Given the description of an element on the screen output the (x, y) to click on. 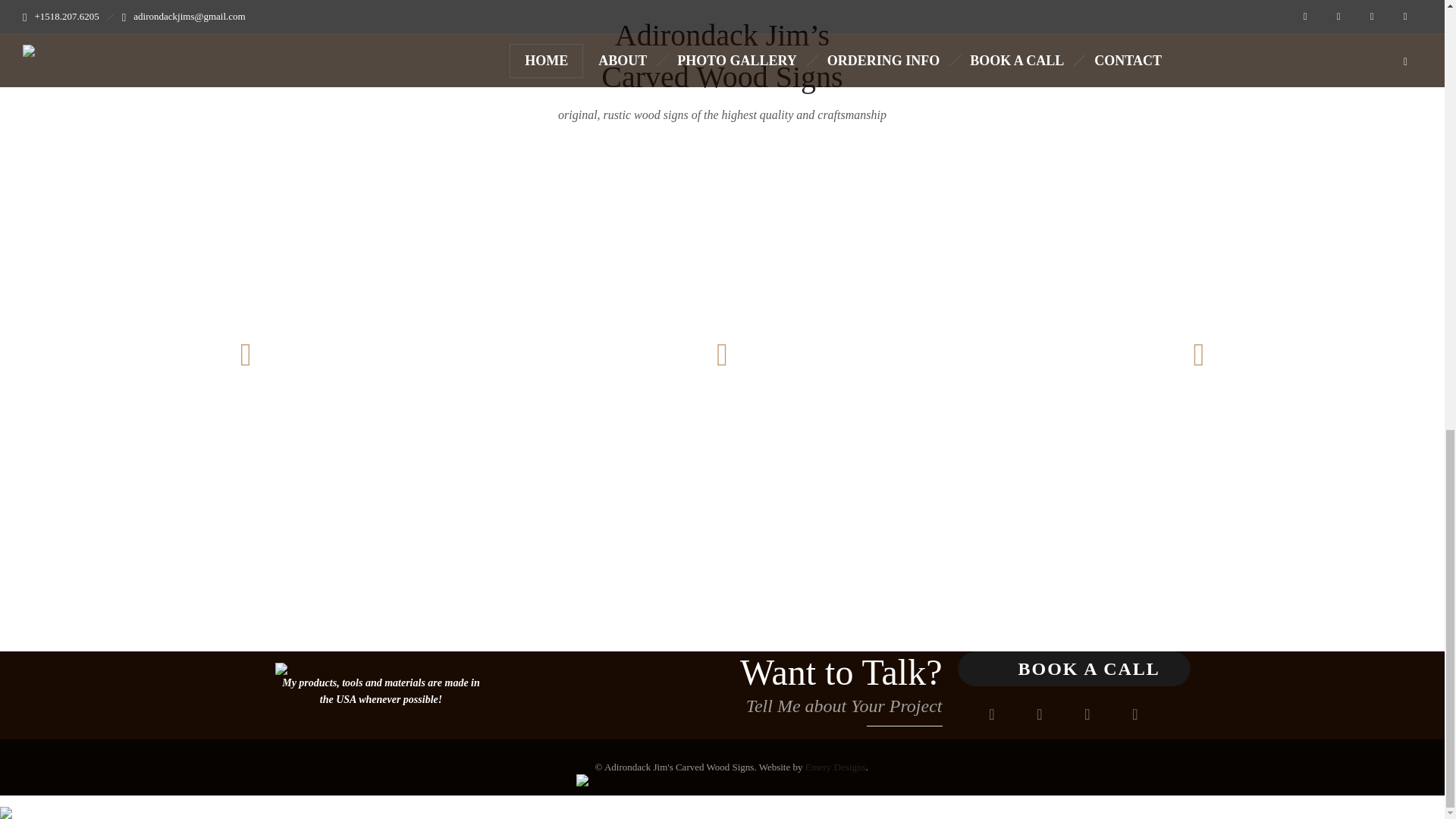
Emery Designs (835, 767)
BOOK A CALL (1072, 668)
Mobile logo (5, 803)
Departments Header (280, 668)
